Given the description of an element on the screen output the (x, y) to click on. 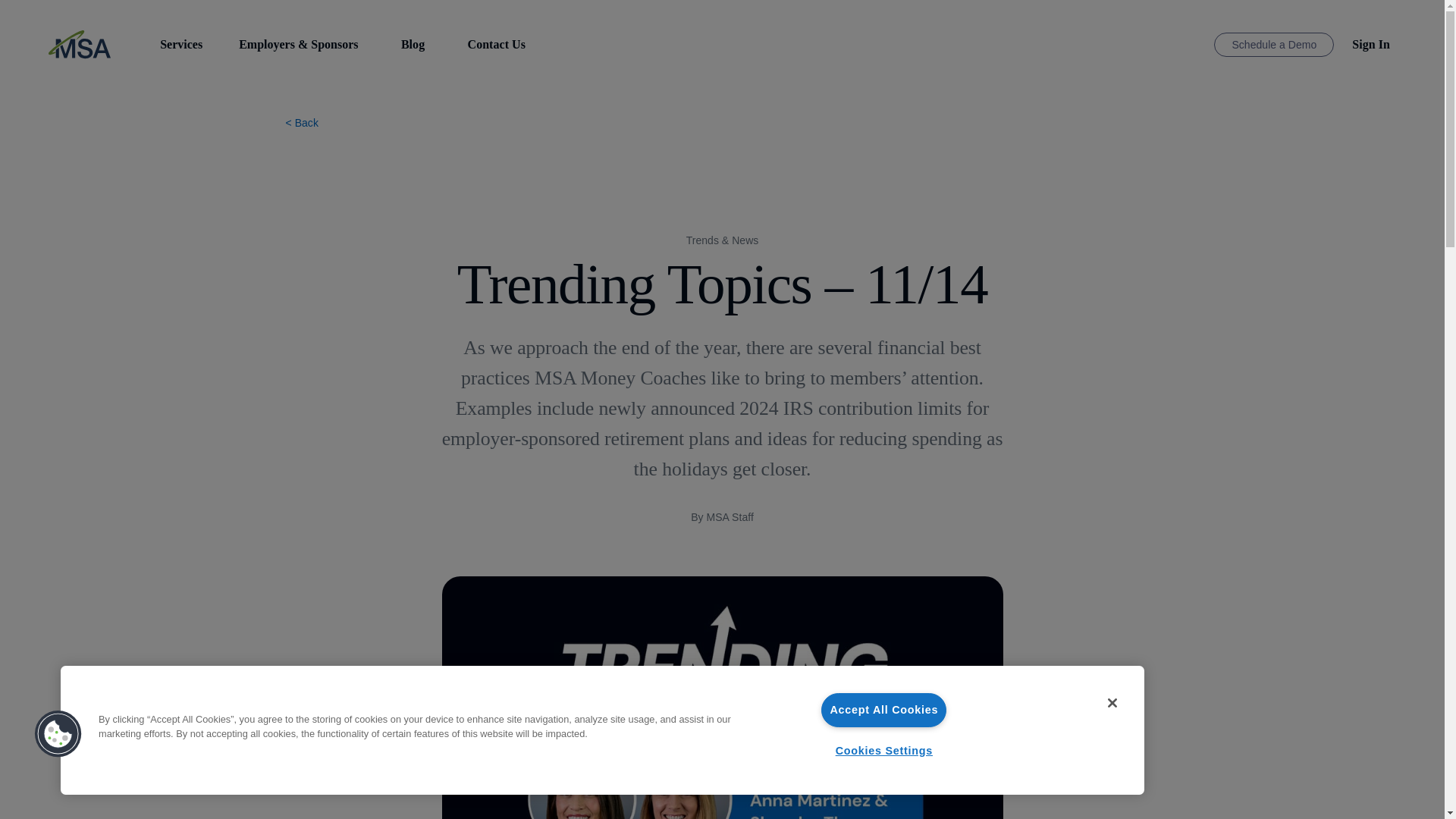
Services (181, 44)
Cookies Button (57, 734)
Schedule a Demo (1273, 44)
Sign In (1370, 44)
Blog (413, 44)
Contact Us (496, 44)
